Given the description of an element on the screen output the (x, y) to click on. 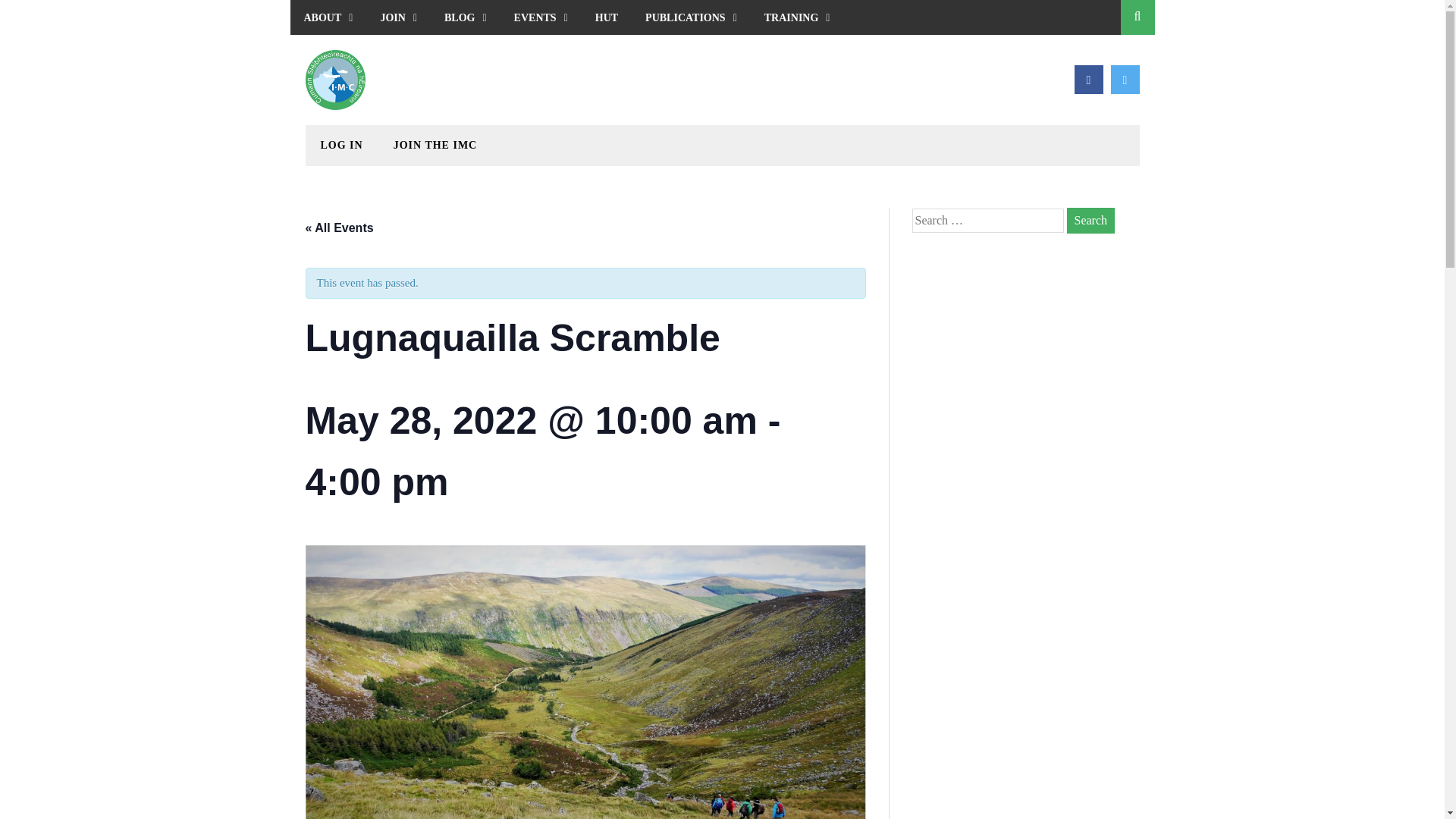
JOIN (398, 17)
EVENTS (540, 17)
HUT (605, 17)
Search (1090, 220)
PUBLICATIONS (691, 17)
ABOUT (327, 17)
BLOG (465, 17)
Search (1090, 220)
